Given the description of an element on the screen output the (x, y) to click on. 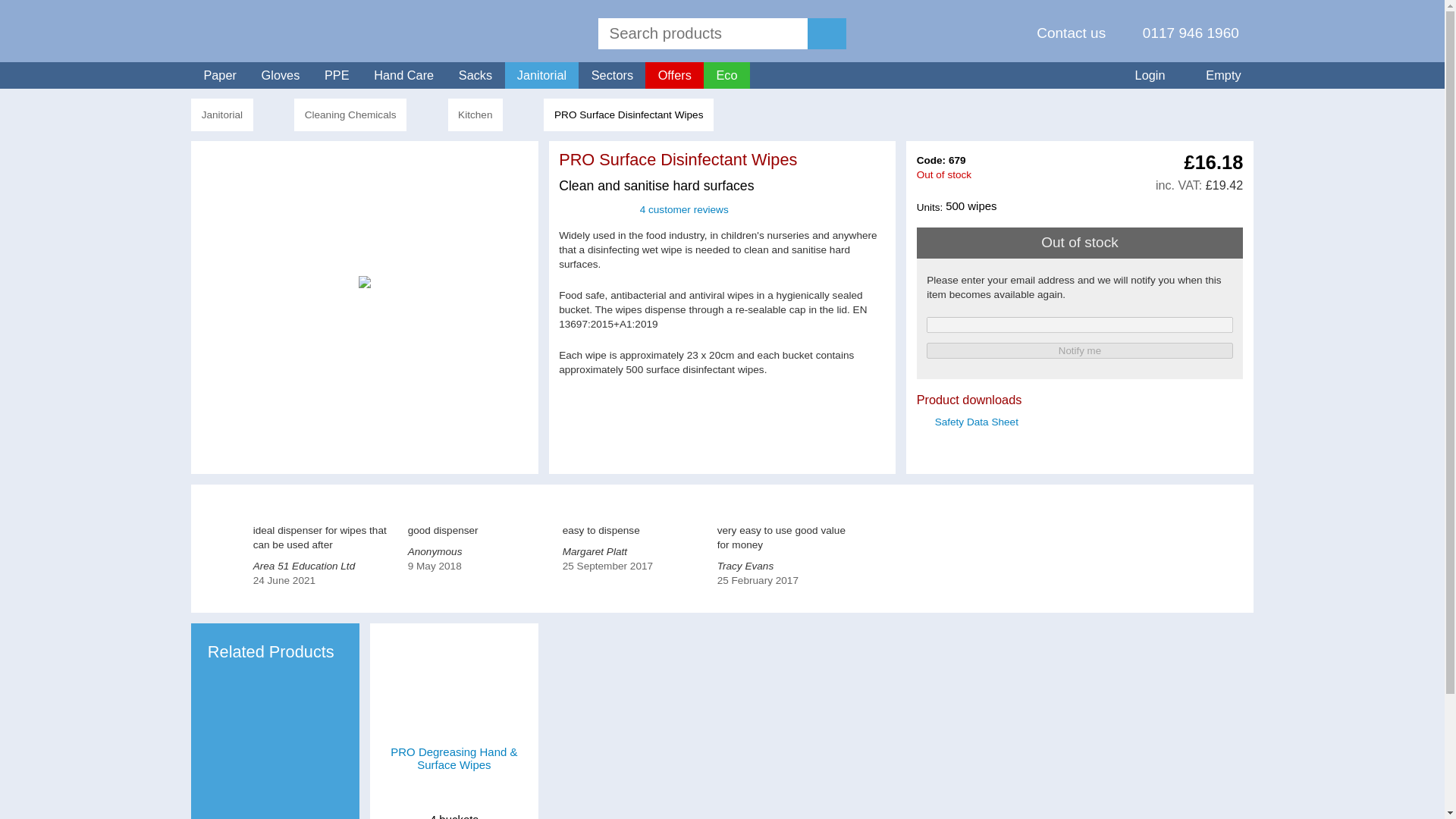
Gloves (279, 75)
Cleaning Chemicals (350, 114)
Search (826, 33)
Contact us (1061, 32)
Hygiene Depot (239, 30)
Kitchen (475, 114)
Janitorial (221, 114)
Login (1141, 75)
PPE (337, 75)
Offers (674, 75)
Empty (1215, 75)
Search (702, 33)
Paper (219, 75)
0117 946 1960 (1181, 32)
Safety Data Sheet (975, 421)
